Given the description of an element on the screen output the (x, y) to click on. 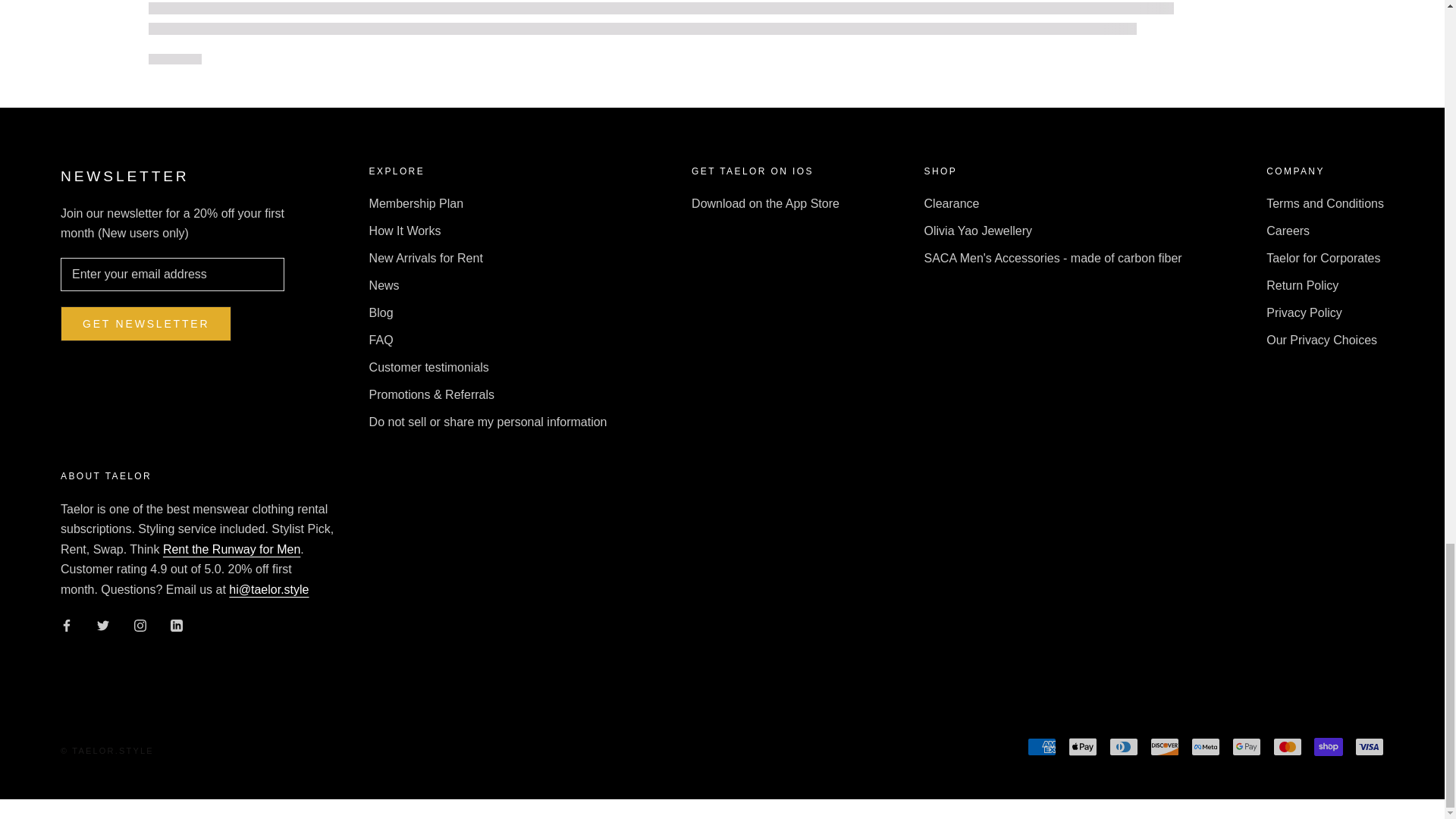
Shop Pay (1328, 746)
Rent the Runway for Men (231, 549)
Google Pay (1245, 746)
Meta Pay (1205, 746)
Visa (1369, 746)
American Express (1042, 746)
Apple Pay (1082, 746)
Diners Club (1123, 746)
Discover (1164, 746)
Mastercard (1286, 746)
